Given the description of an element on the screen output the (x, y) to click on. 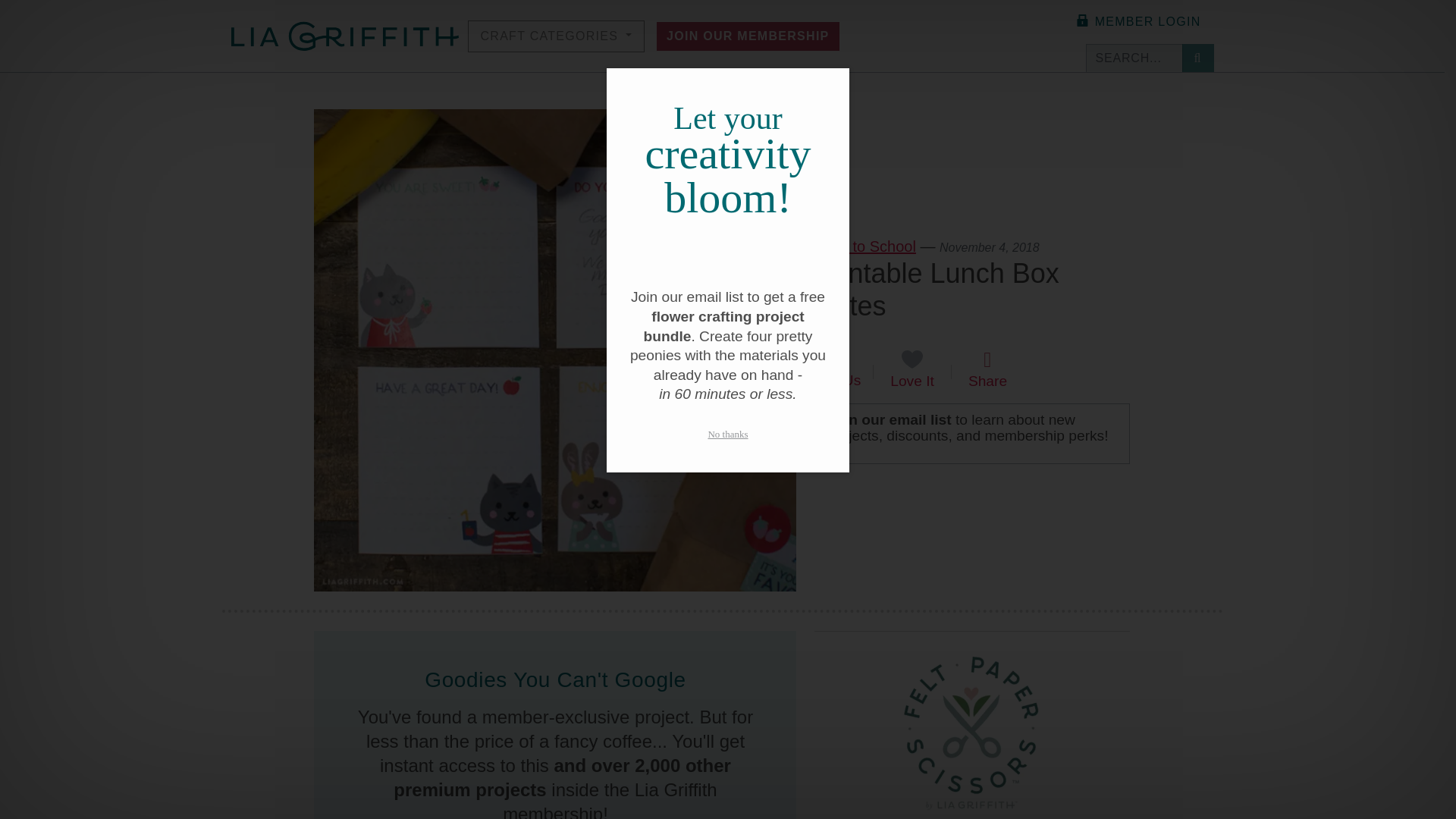
CRAFT CATEGORIES (556, 35)
Ask Us (836, 369)
Share (987, 369)
Love It (912, 369)
JOIN OUR MEMBERSHIP (748, 35)
Back to School (864, 246)
MEMBER LOGIN (1136, 21)
